Given the description of an element on the screen output the (x, y) to click on. 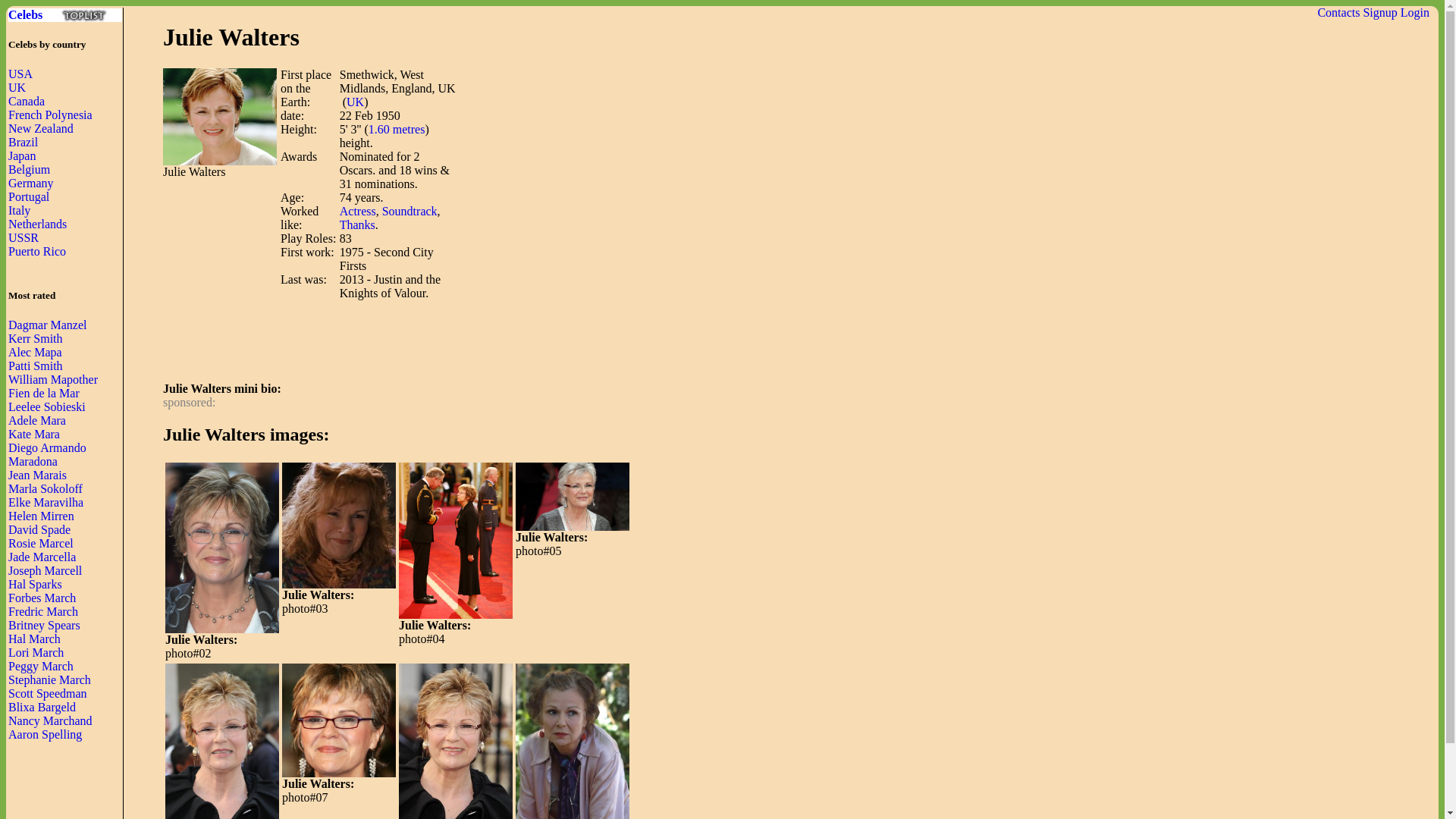
Fredric March (43, 611)
Brazil (22, 141)
Helen Mirren (41, 515)
Marla Sokoloff (45, 488)
Japan (21, 155)
USSR (23, 237)
Joseph Marcell (44, 570)
Forbes March (41, 597)
Julie Walters (219, 116)
Login (1414, 11)
Julie Walters (339, 525)
Italy (19, 210)
Portugal (28, 196)
Germany (30, 182)
Advertisement (438, 334)
